Given the description of an element on the screen output the (x, y) to click on. 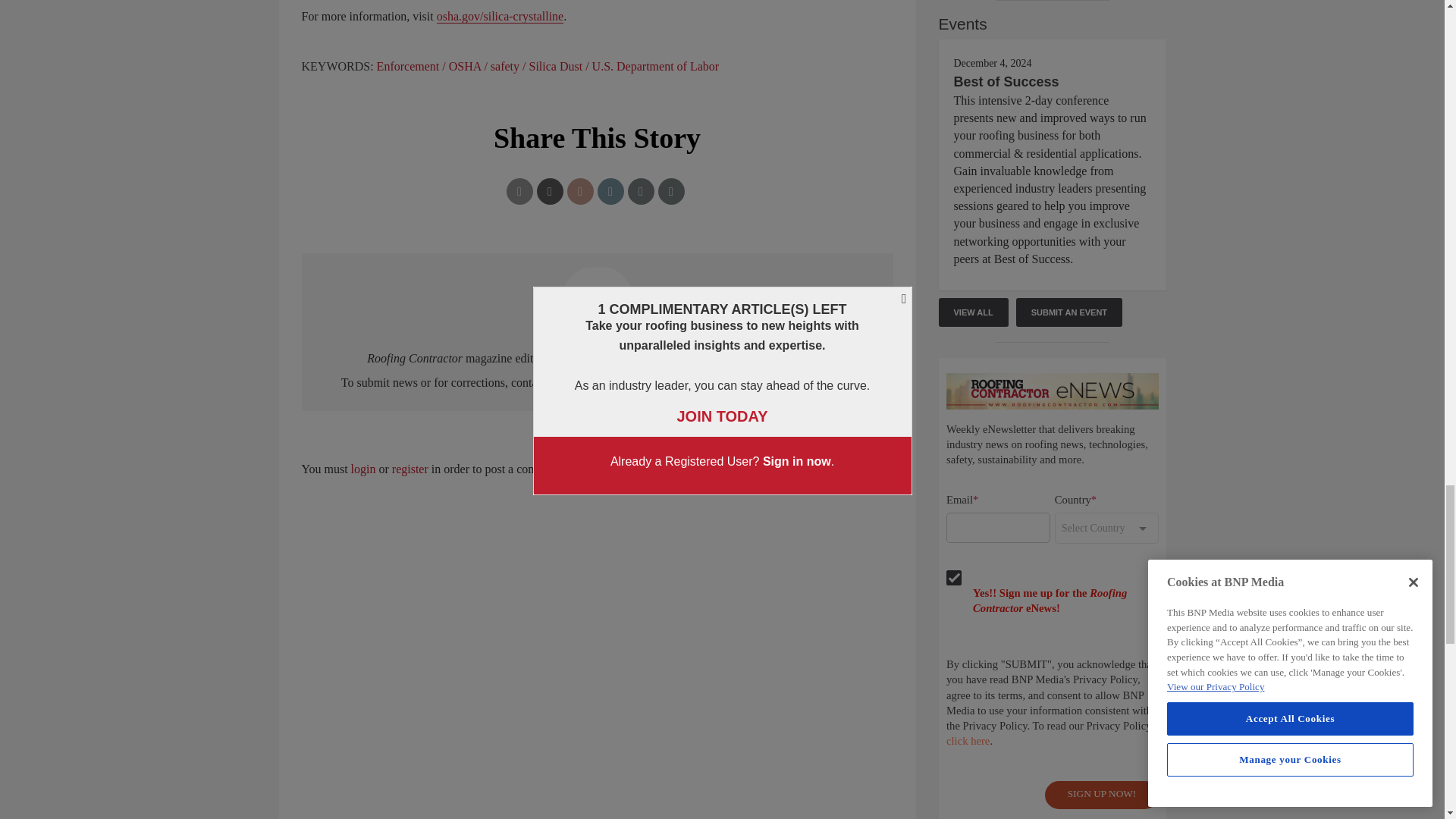
Best of Success (1006, 81)
